Given the description of an element on the screen output the (x, y) to click on. 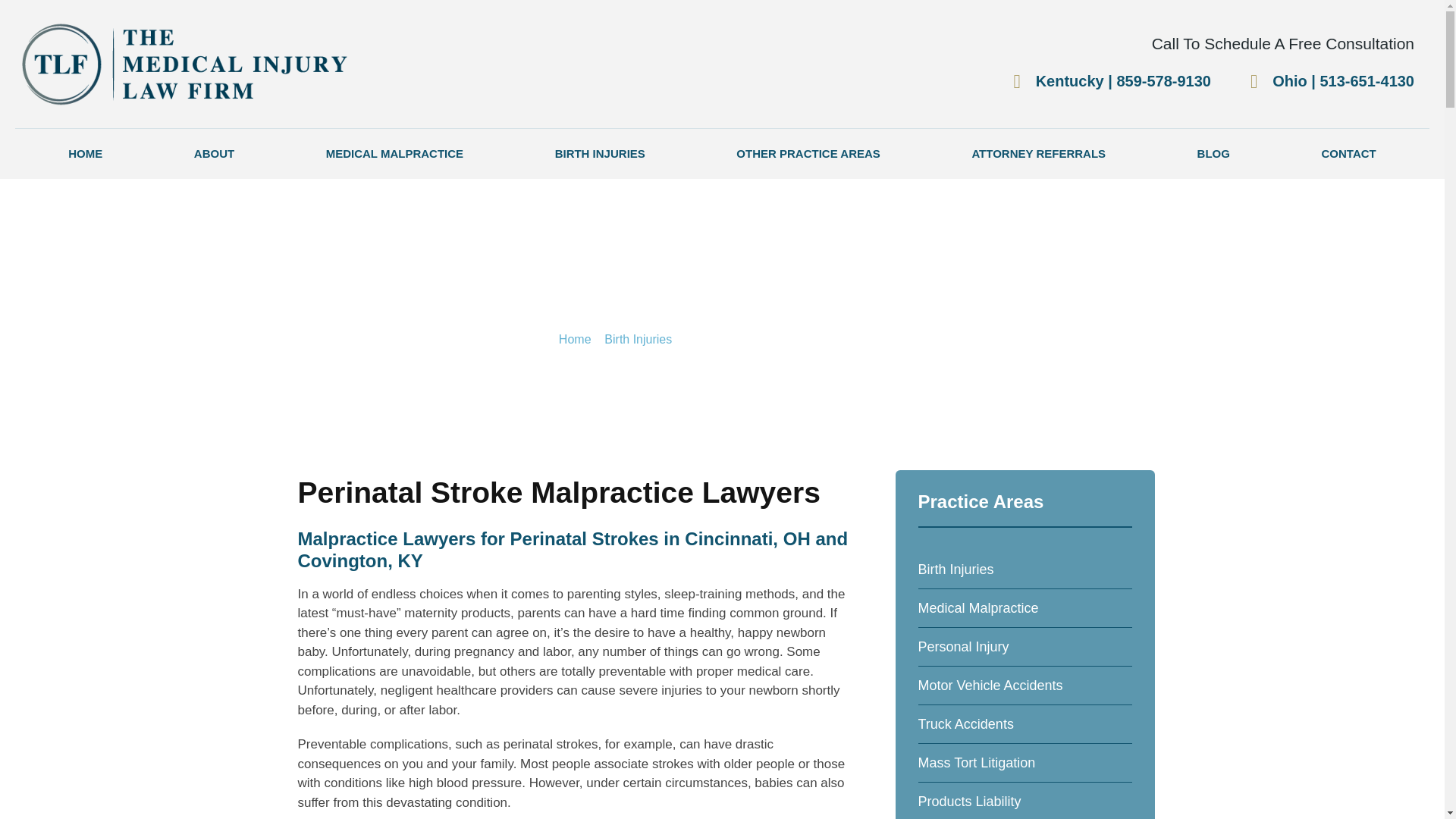
MEDICAL MALPRACTICE (393, 153)
HOME (85, 153)
ABOUT (214, 153)
